Given the description of an element on the screen output the (x, y) to click on. 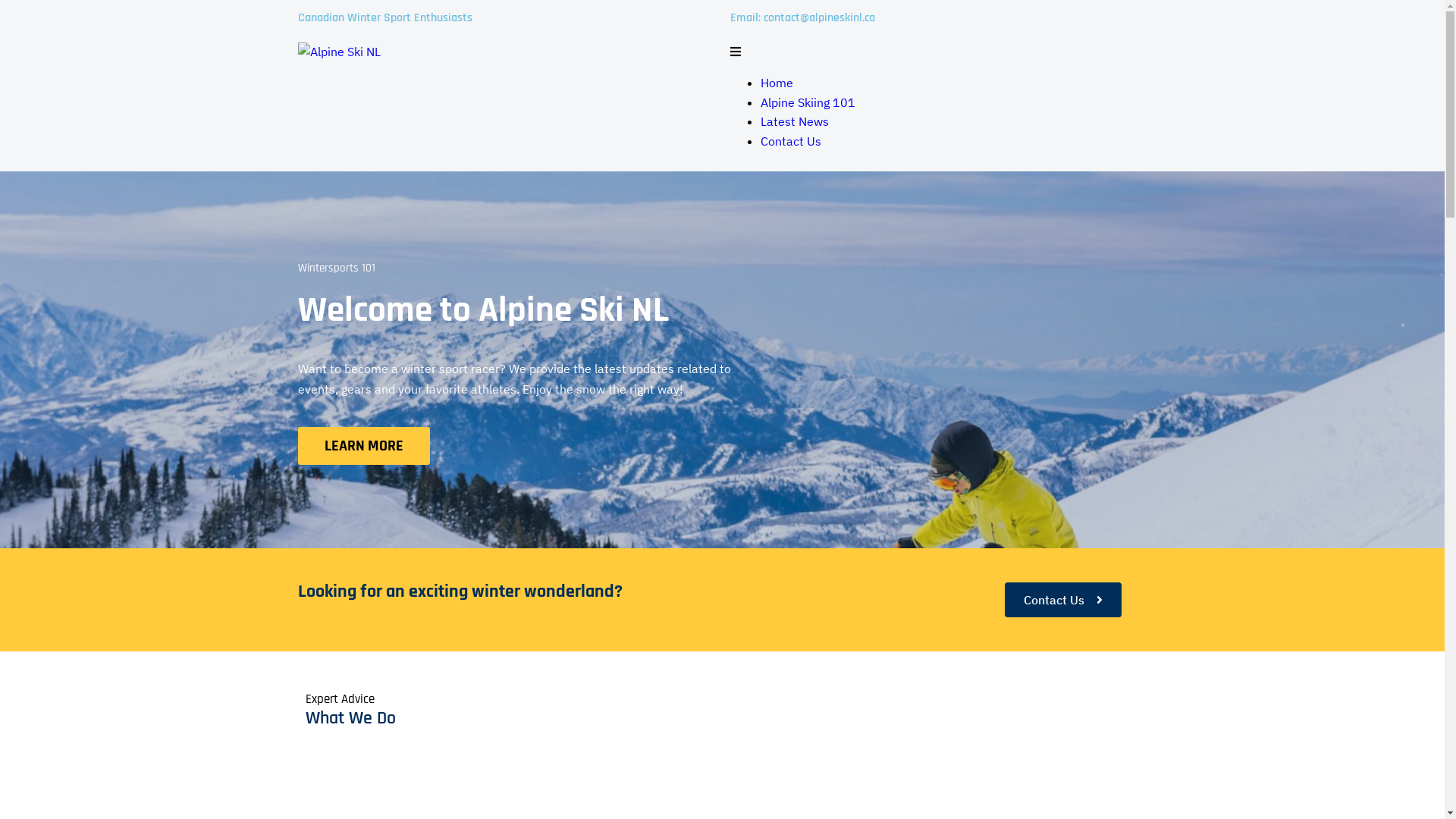
LEARN MORE Element type: text (363, 445)
Latest News Element type: text (793, 120)
Home Element type: text (775, 82)
Contact Us Element type: text (1062, 599)
Alpine Skiing 101 Element type: text (806, 101)
Contact Us Element type: text (789, 140)
Skip to content Element type: text (3, 3)
